Given the description of an element on the screen output the (x, y) to click on. 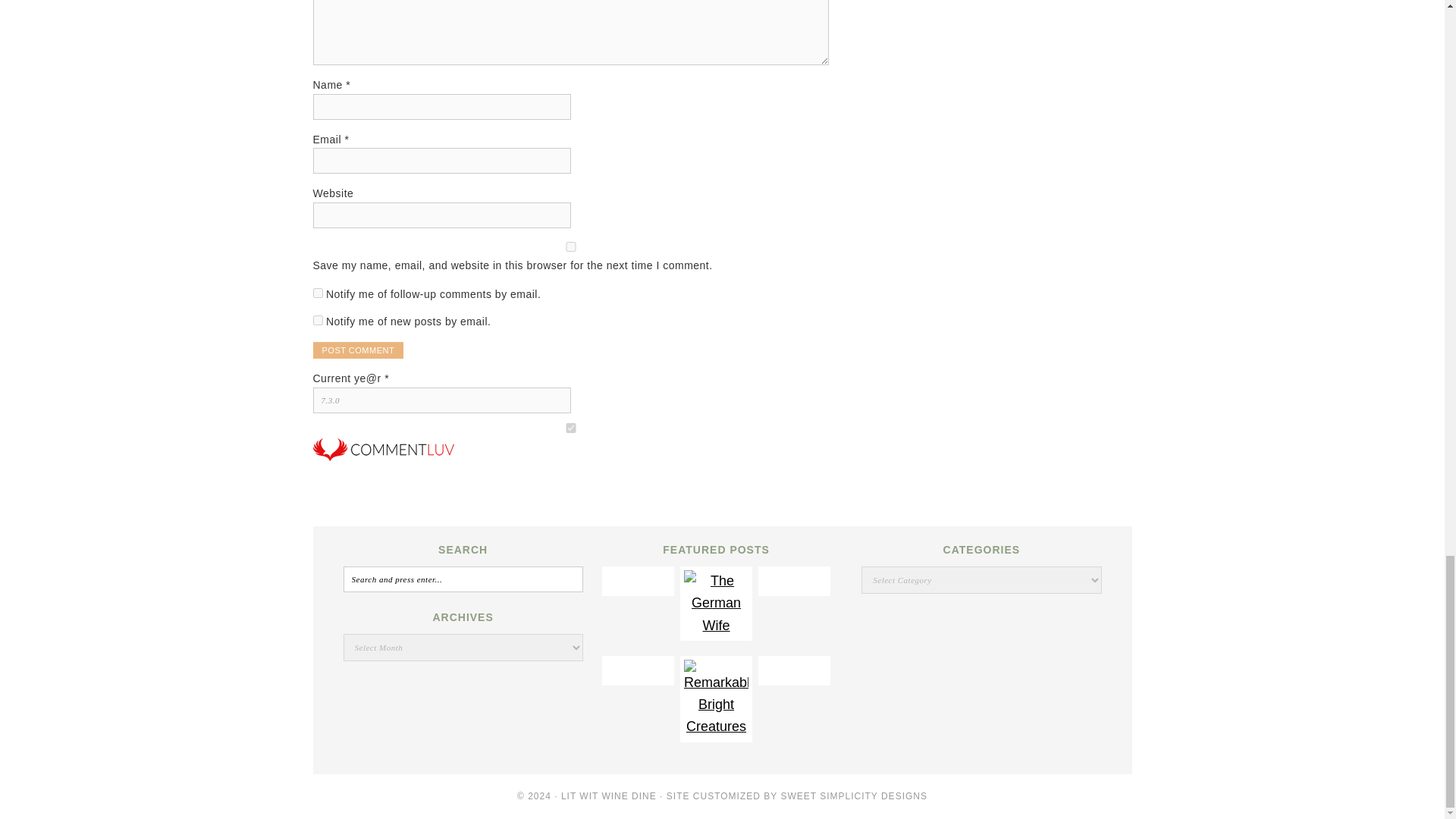
Review: Remarkably Bright Creatures by Shelby Van Pelt (716, 726)
Blog Tour: The German Wife by Kelly Rimmer (716, 625)
subscribe (317, 320)
Sweet Simplicity Designs (853, 796)
yes (570, 246)
7.3.0 (441, 400)
subscribe (317, 292)
on (570, 428)
